Given the description of an element on the screen output the (x, y) to click on. 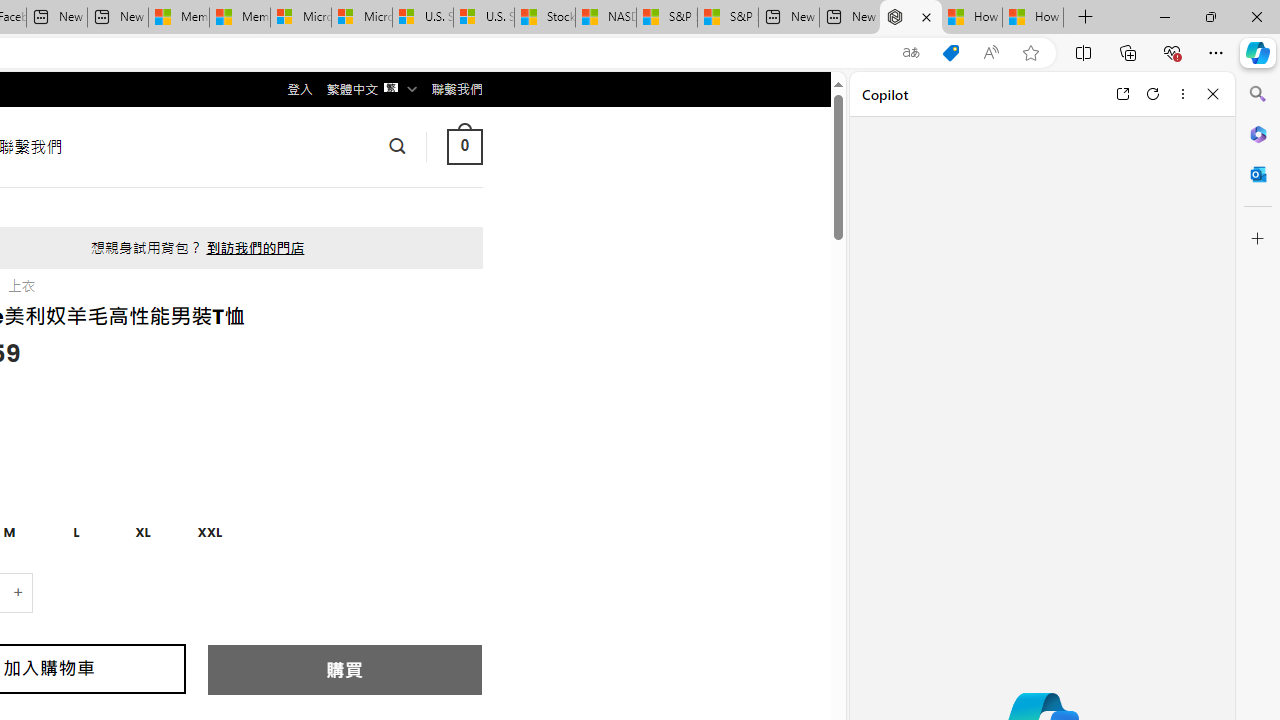
Show translate options (910, 53)
Read aloud this page (Ctrl+Shift+U) (991, 53)
Outlook (1258, 174)
Microsoft 365 (1258, 133)
